Given the description of an element on the screen output the (x, y) to click on. 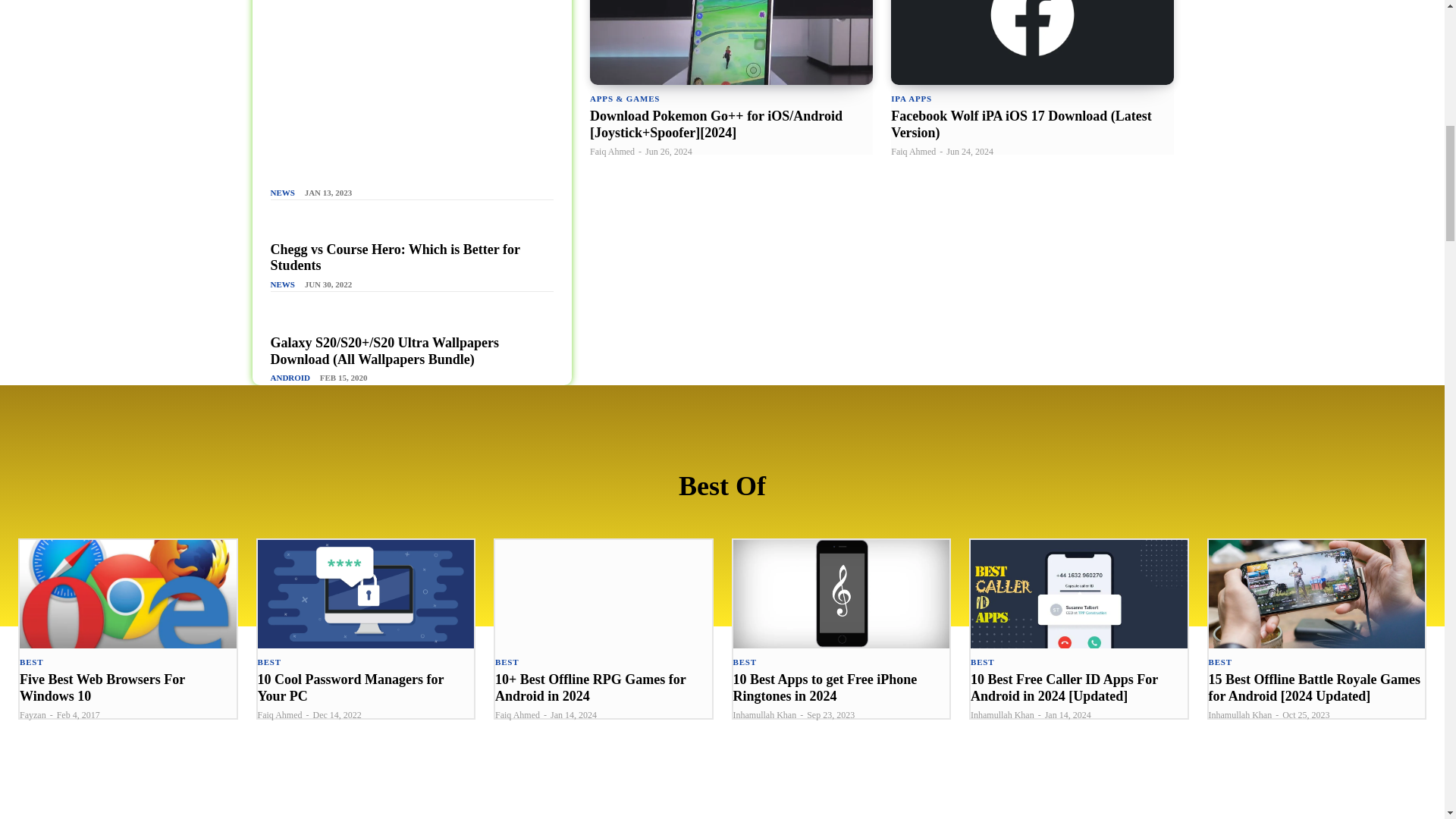
Chegg vs Course Hero: Which is Better for Students (394, 257)
NEWS (281, 192)
ANDROID (289, 377)
NEWS (281, 284)
